Given the description of an element on the screen output the (x, y) to click on. 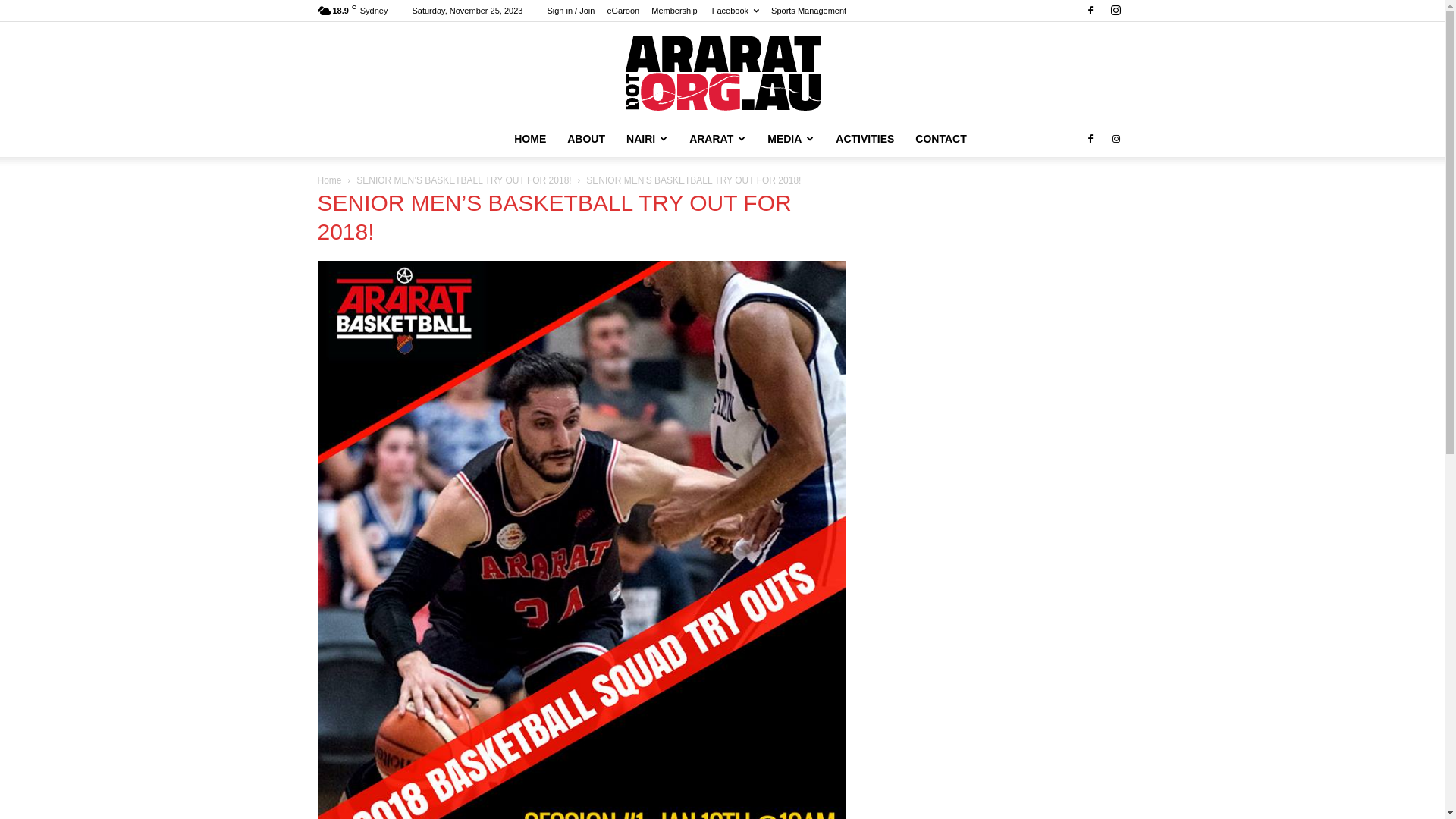
Membership Element type: text (674, 10)
eGaroon Element type: text (622, 10)
Home Element type: text (328, 180)
Sports Management Element type: text (808, 10)
MEDIA Element type: text (790, 138)
Facebook Element type: text (734, 10)
ARARAT Element type: text (717, 138)
ACTIVITIES Element type: text (864, 138)
NAIRI Element type: text (646, 138)
HOME Element type: text (529, 138)
Instagram Element type: hover (1115, 10)
Facebook Element type: hover (1090, 138)
Instagram Element type: hover (1115, 138)
ABOUT Element type: text (585, 138)
Ararat Armenian Community in Australia Element type: hover (721, 71)
CONTACT Element type: text (940, 138)
Sign in / Join Element type: text (570, 10)
Facebook Element type: hover (1090, 10)
